Given the description of an element on the screen output the (x, y) to click on. 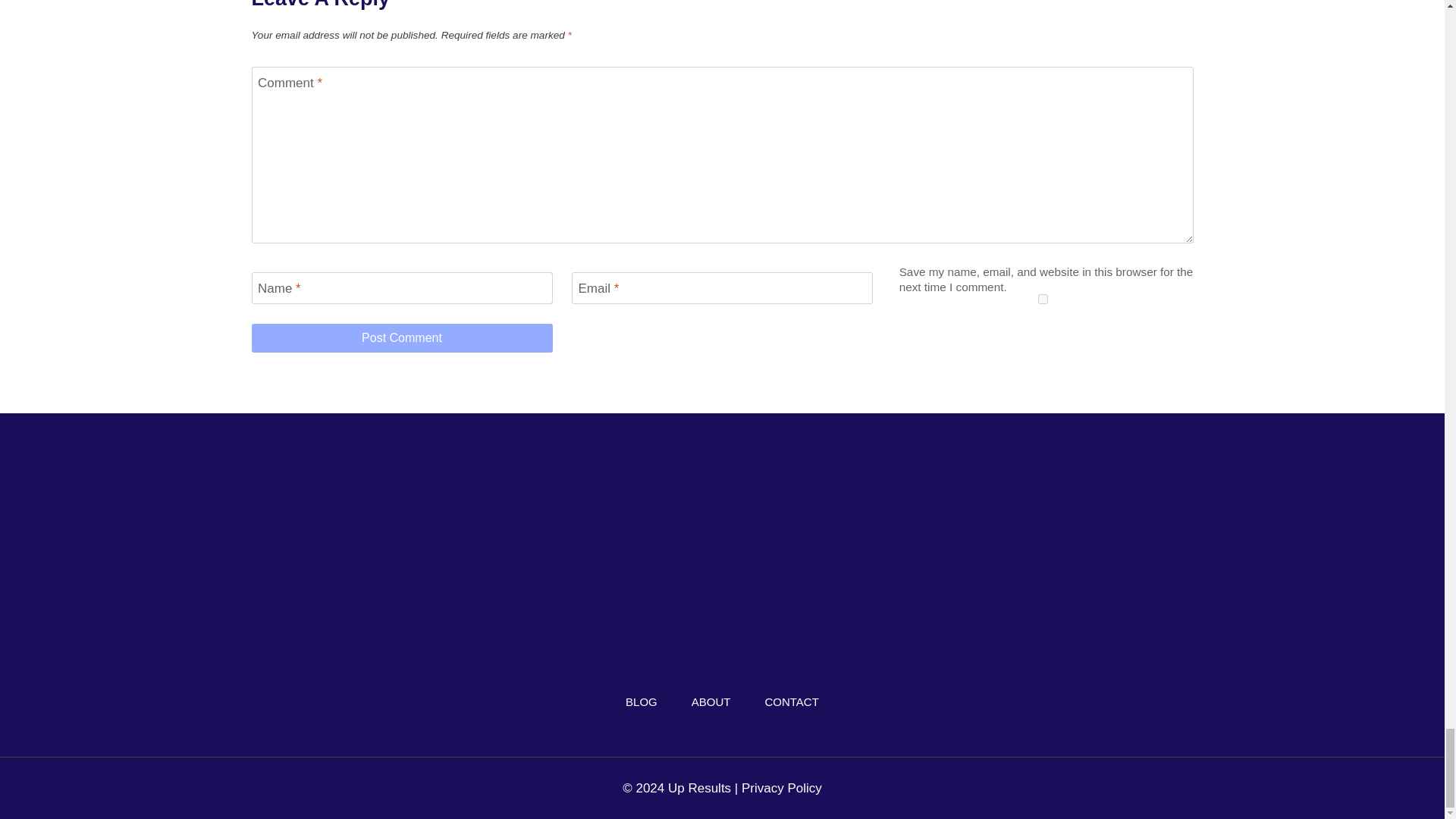
Post Comment (402, 337)
yes (1041, 298)
